Given the description of an element on the screen output the (x, y) to click on. 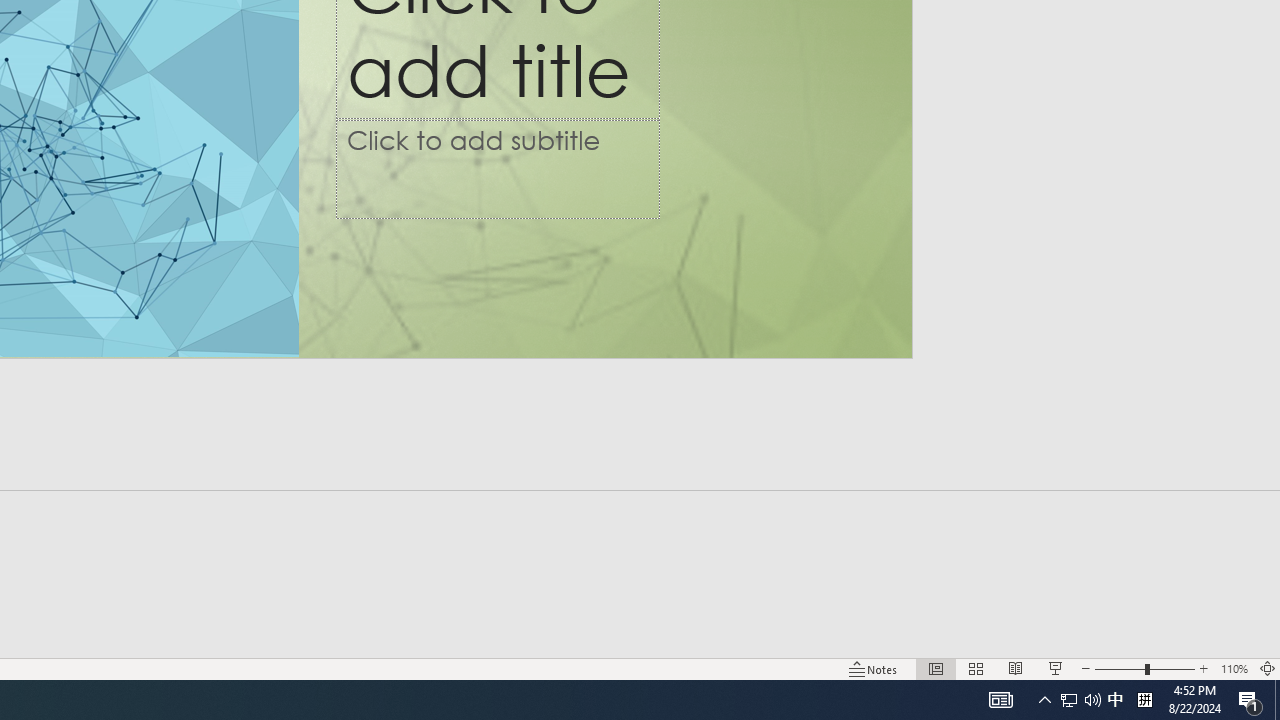
Zoom 110% (1234, 668)
